Given the description of an element on the screen output the (x, y) to click on. 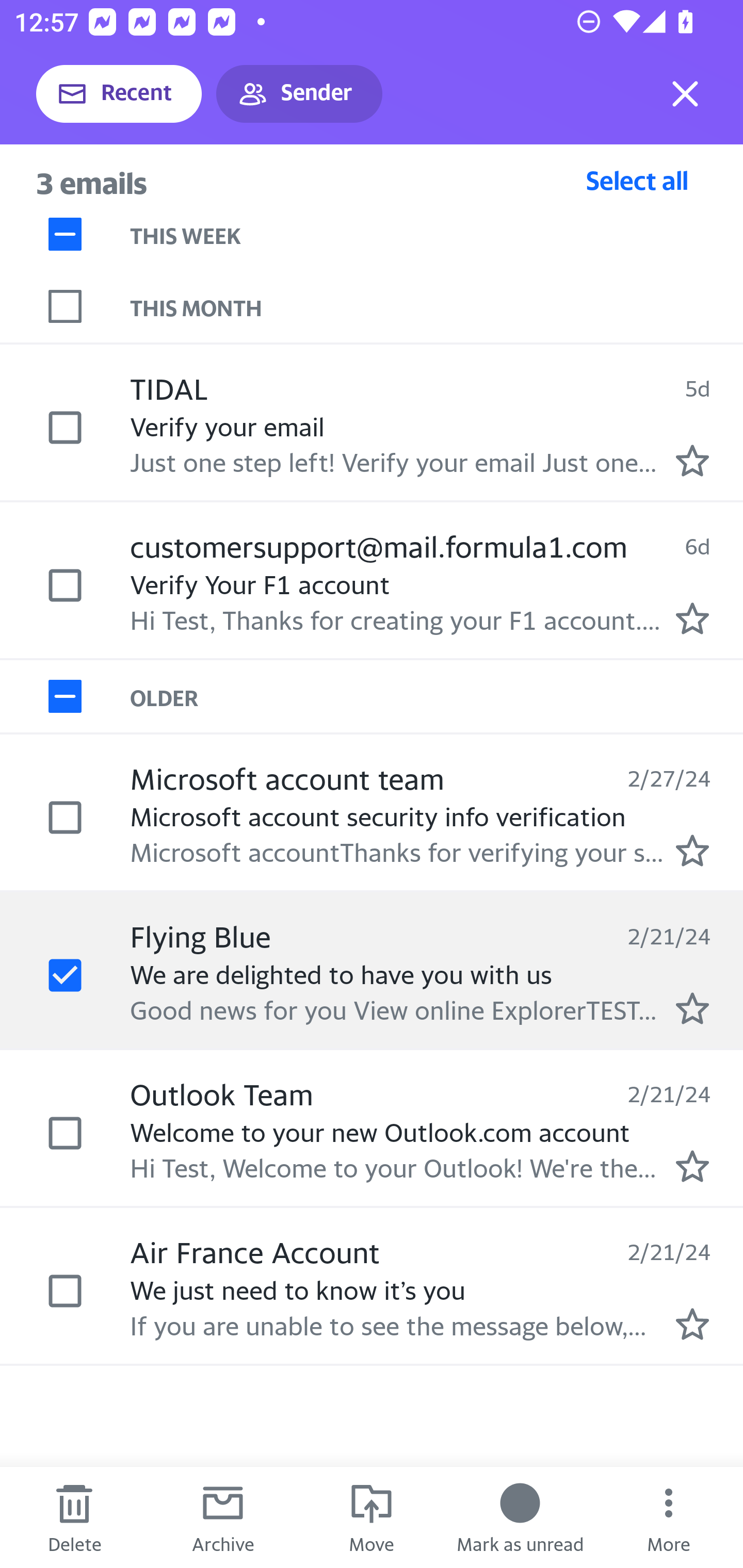
Sender (299, 93)
Exit selection mode (684, 93)
Select all (637, 180)
THIS MONTH (436, 306)
Mark as starred. (692, 460)
Mark as starred. (692, 618)
OLDER (436, 696)
Mark as starred. (692, 850)
Mark as starred. (692, 1008)
Mark as starred. (692, 1165)
Mark as starred. (692, 1324)
Delete (74, 1517)
Archive (222, 1517)
Move (371, 1517)
Mark as unread (519, 1517)
More (668, 1517)
